Given the description of an element on the screen output the (x, y) to click on. 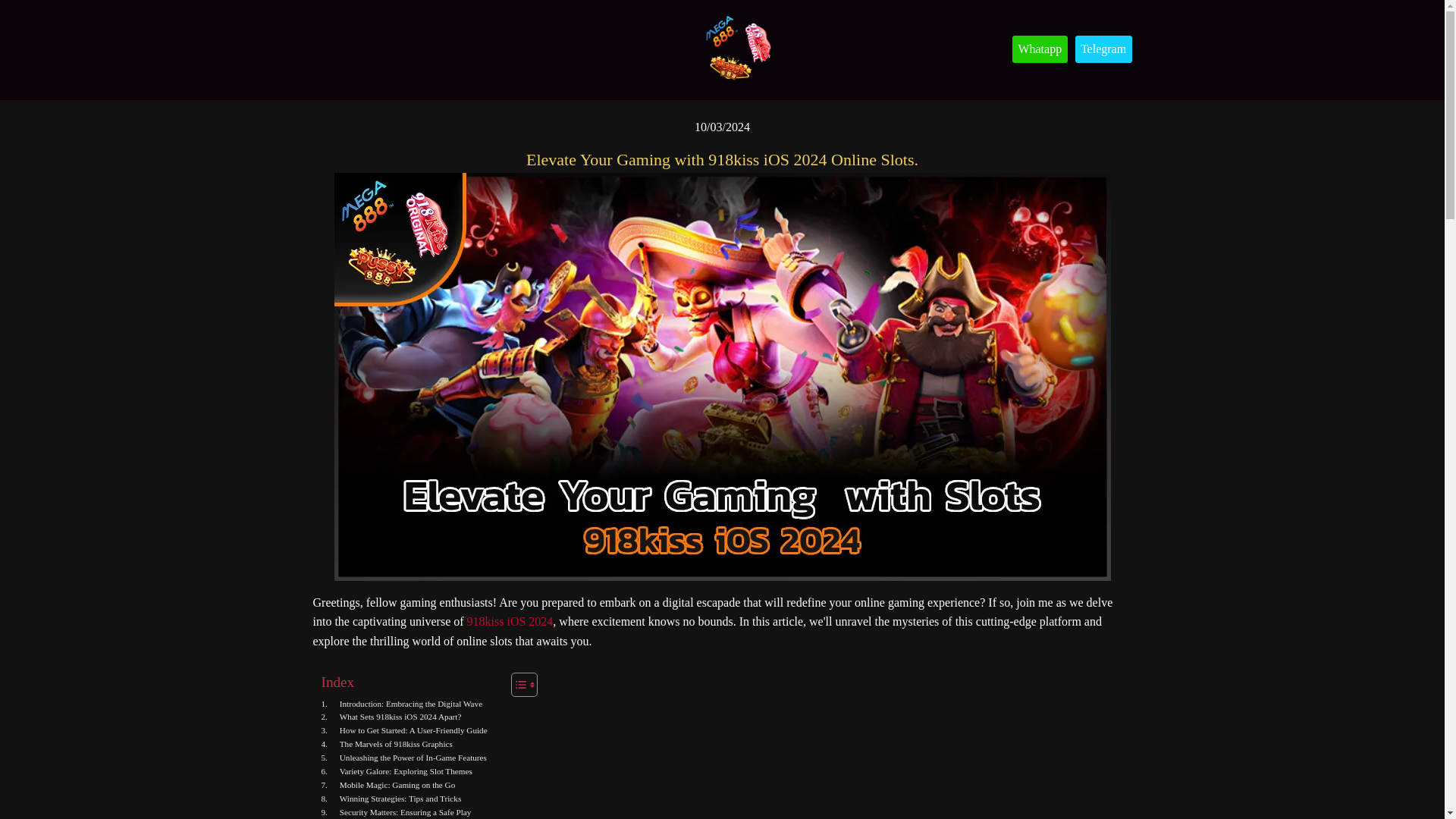
The Marvels of 918kiss Graphics (386, 744)
Mobile Magic: Gaming on the Go (388, 785)
Unleashing the Power of In-Game Features (403, 757)
How to Get Started: A User-Friendly Guide (404, 730)
How to Get Started: A User-Friendly Guide (404, 730)
Variety Galore: Exploring Slot Themes (396, 771)
The Marvels of 918kiss Graphics (386, 744)
Whatapp (1039, 49)
Introduction: Embracing the Digital Wave (402, 704)
918kiss iOS 2024 (510, 621)
